Given the description of an element on the screen output the (x, y) to click on. 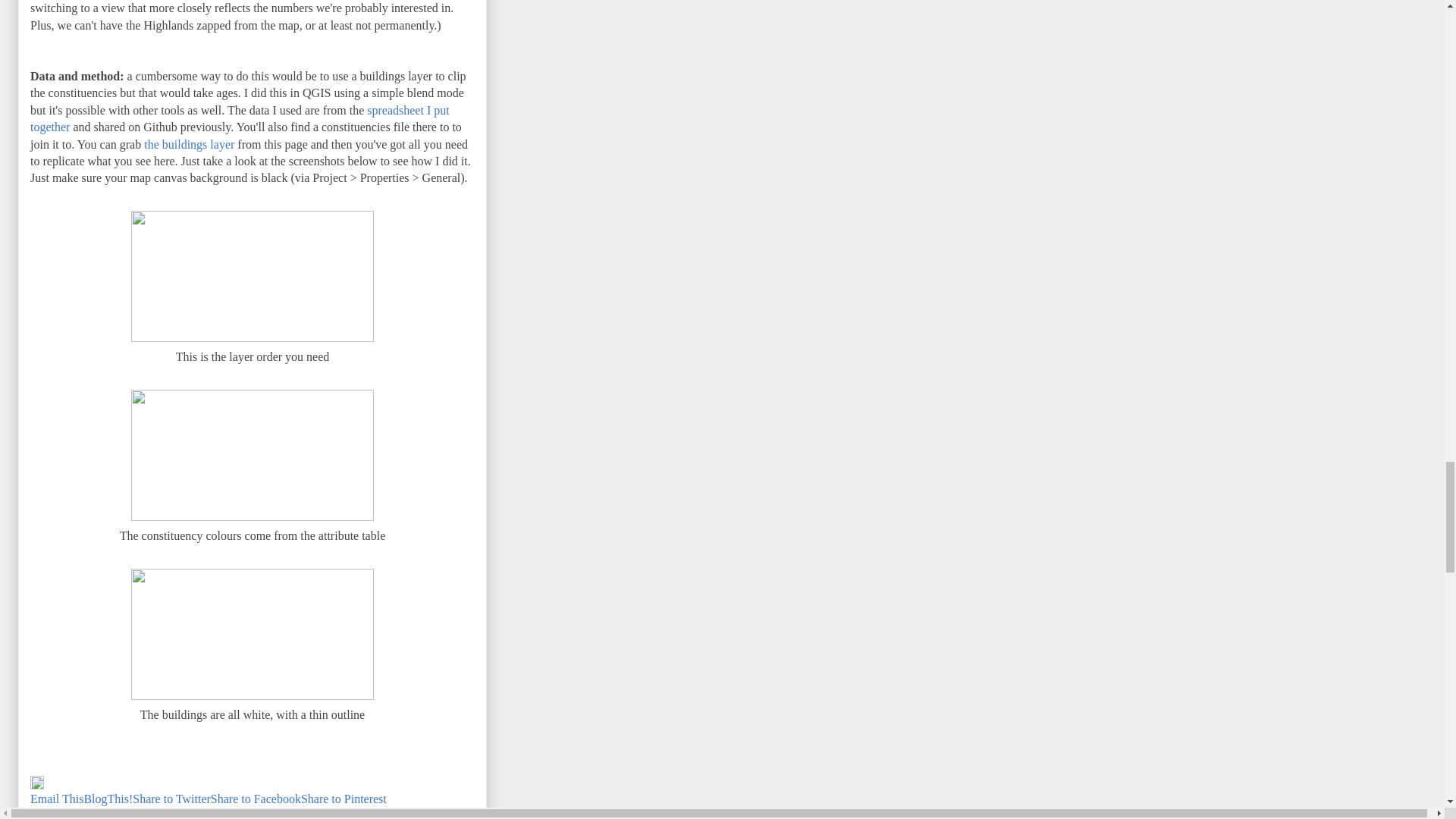
cartogram (140, 812)
spreadsheet I put together (239, 118)
dasymetric (341, 812)
Email This (56, 798)
Email This (56, 798)
BlogThis! (107, 798)
general election (412, 812)
Share to Pinterest (344, 798)
Share to Twitter (171, 798)
BlogThis! (107, 798)
Share to Facebook (256, 798)
conservative (201, 812)
the buildings layer (189, 144)
constituencies (274, 812)
Edit Post (36, 784)
